Given the description of an element on the screen output the (x, y) to click on. 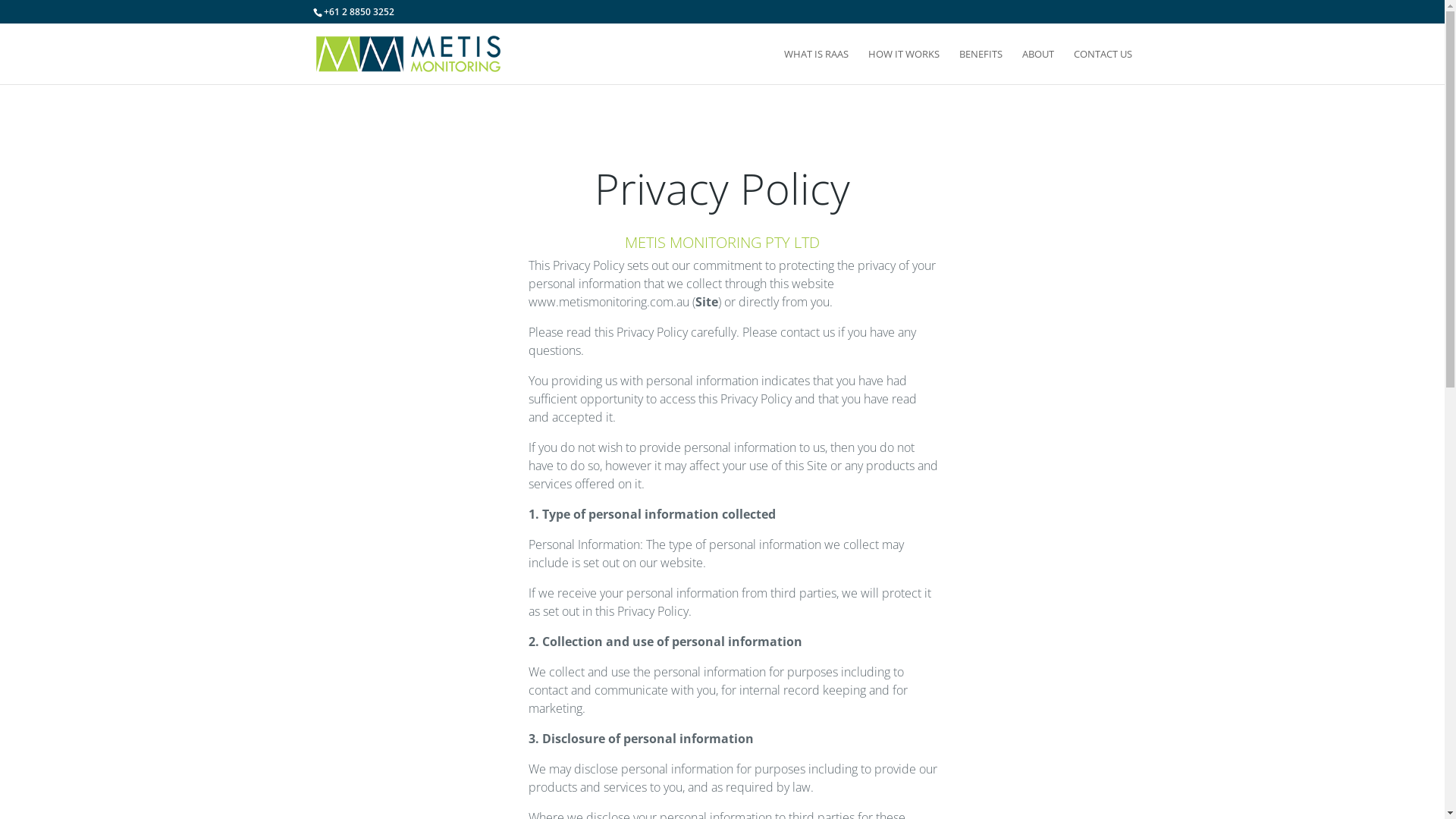
CONTACT US Element type: text (1102, 66)
BENEFITS Element type: text (979, 66)
WHAT IS RAAS Element type: text (816, 66)
HOW IT WORKS Element type: text (902, 66)
ABOUT Element type: text (1038, 66)
